Given the description of an element on the screen output the (x, y) to click on. 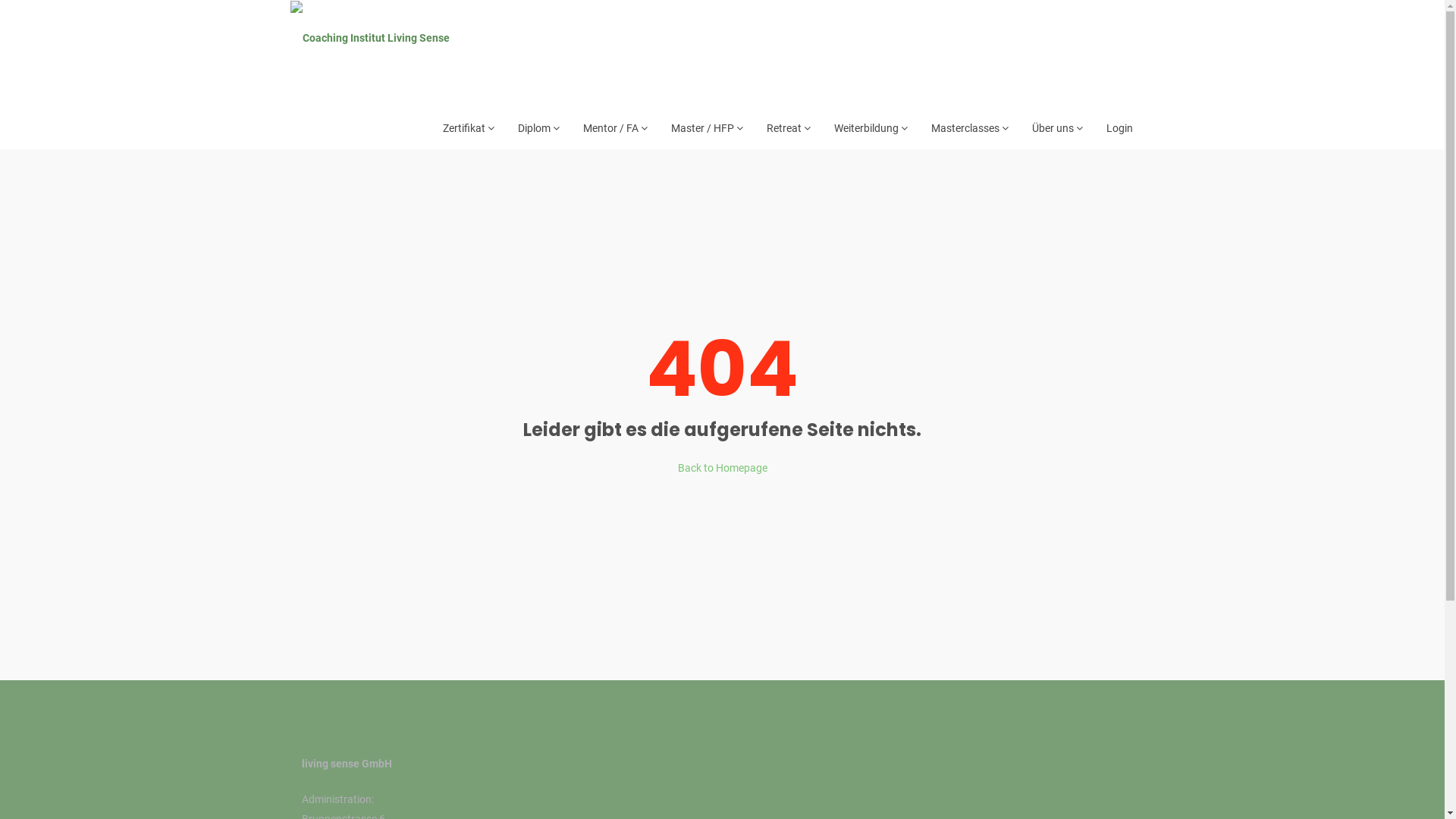
Login Element type: text (1118, 127)
Retreat Element type: text (787, 127)
Zertifikat Element type: text (468, 127)
Masterclasses Element type: text (969, 127)
Master / HFP Element type: text (706, 127)
Diplom Element type: text (537, 127)
Back to Homepage Element type: text (722, 467)
Weiterbildung Element type: text (870, 127)
Mentor / FA Element type: text (614, 127)
